Given the description of an element on the screen output the (x, y) to click on. 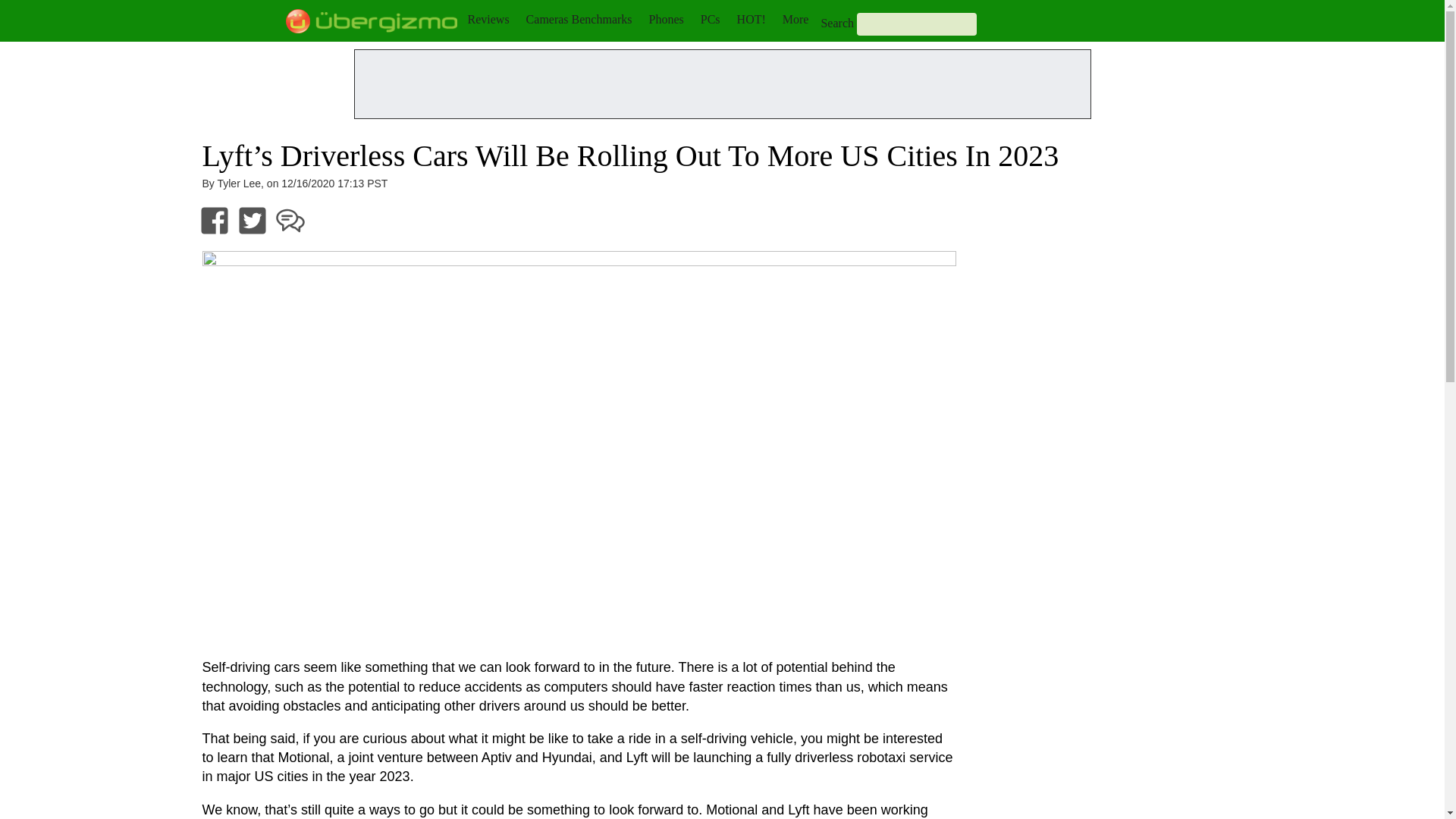
Phones (666, 19)
Cameras Benchmarks (578, 19)
Reviews (487, 19)
PCs (710, 19)
